Given the description of an element on the screen output the (x, y) to click on. 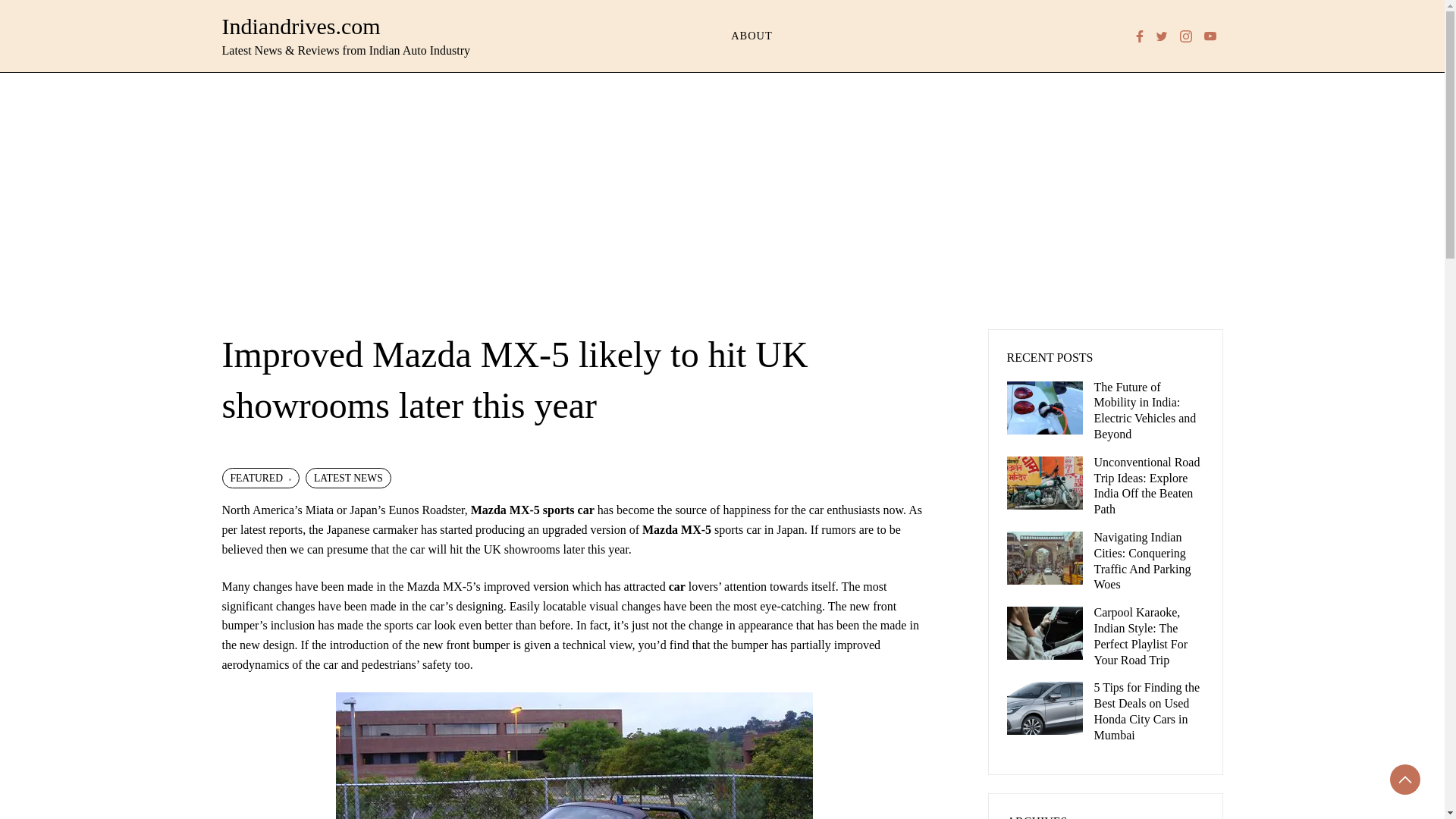
LATEST NEWS (348, 477)
car (676, 585)
FEATURED (259, 477)
Indiandrives.com (300, 25)
New Cars in India (676, 585)
ABOUT (751, 35)
